Given the description of an element on the screen output the (x, y) to click on. 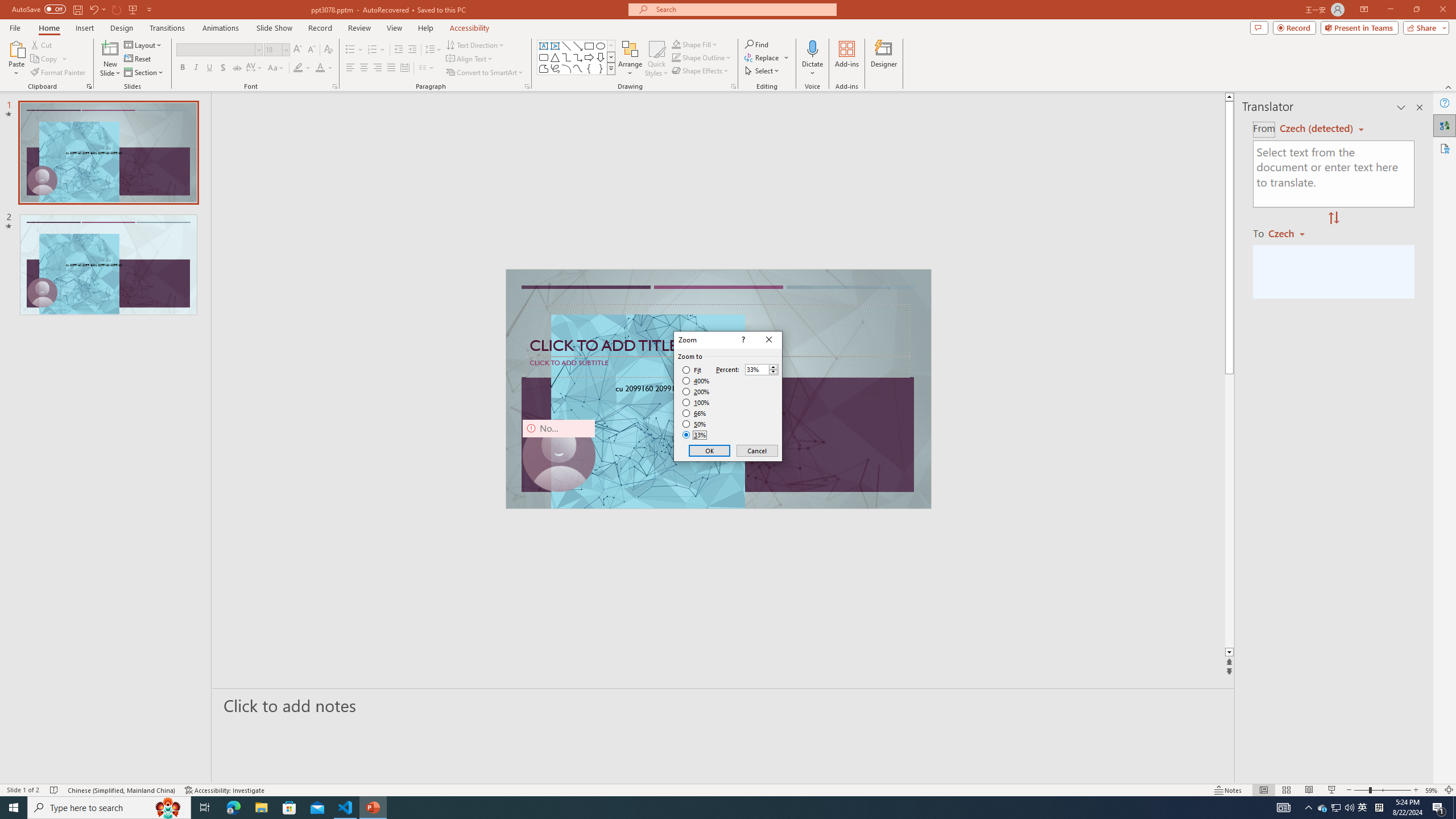
Shape Fill Dark Green, Accent 2 (675, 44)
Increase Indent (412, 49)
Align Left (349, 67)
Paragraph... (526, 85)
Text Highlight Color Yellow (297, 67)
